Given the description of an element on the screen output the (x, y) to click on. 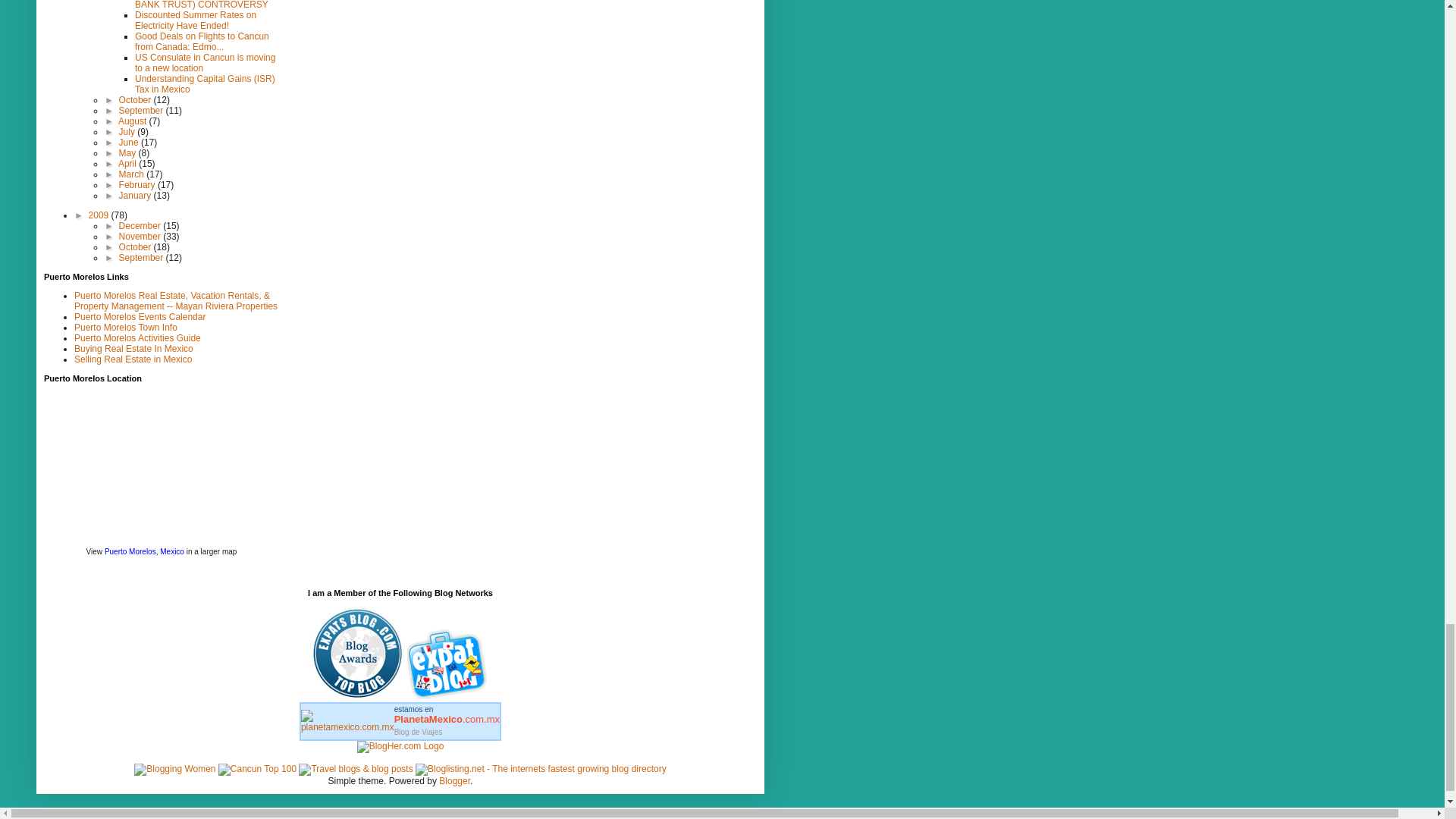
Blog de Viajes (446, 714)
living in Mexico (448, 696)
Blog de Viajes (418, 732)
BlogHer.com (400, 746)
